Given the description of an element on the screen output the (x, y) to click on. 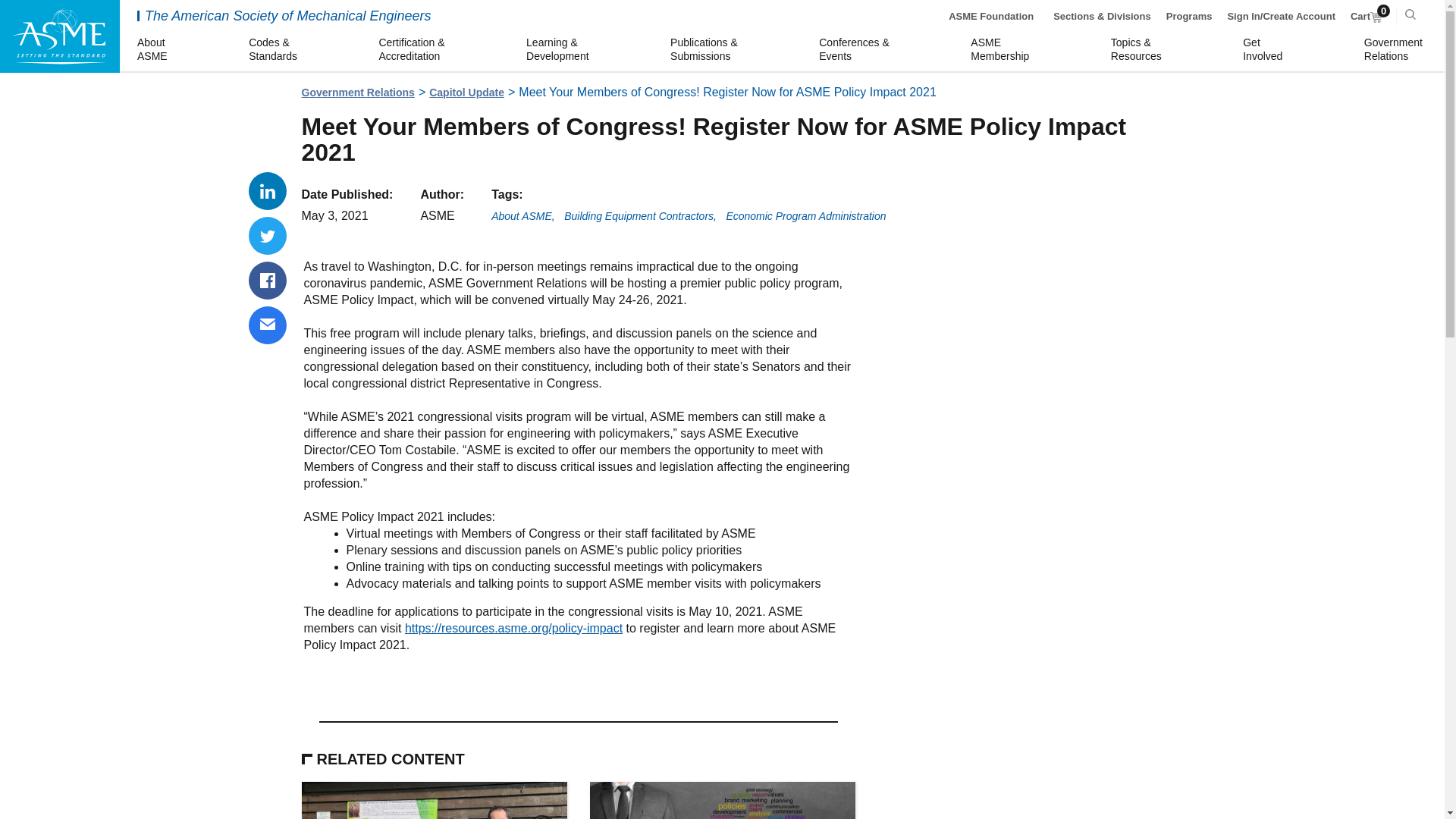
Capitol Update (466, 92)
Share on Twitter (267, 235)
Share via email (267, 324)
Programs (1189, 16)
Share on Facebook (267, 280)
Government Relations (1265, 49)
Share on LinkedIn (357, 92)
